Given the description of an element on the screen output the (x, y) to click on. 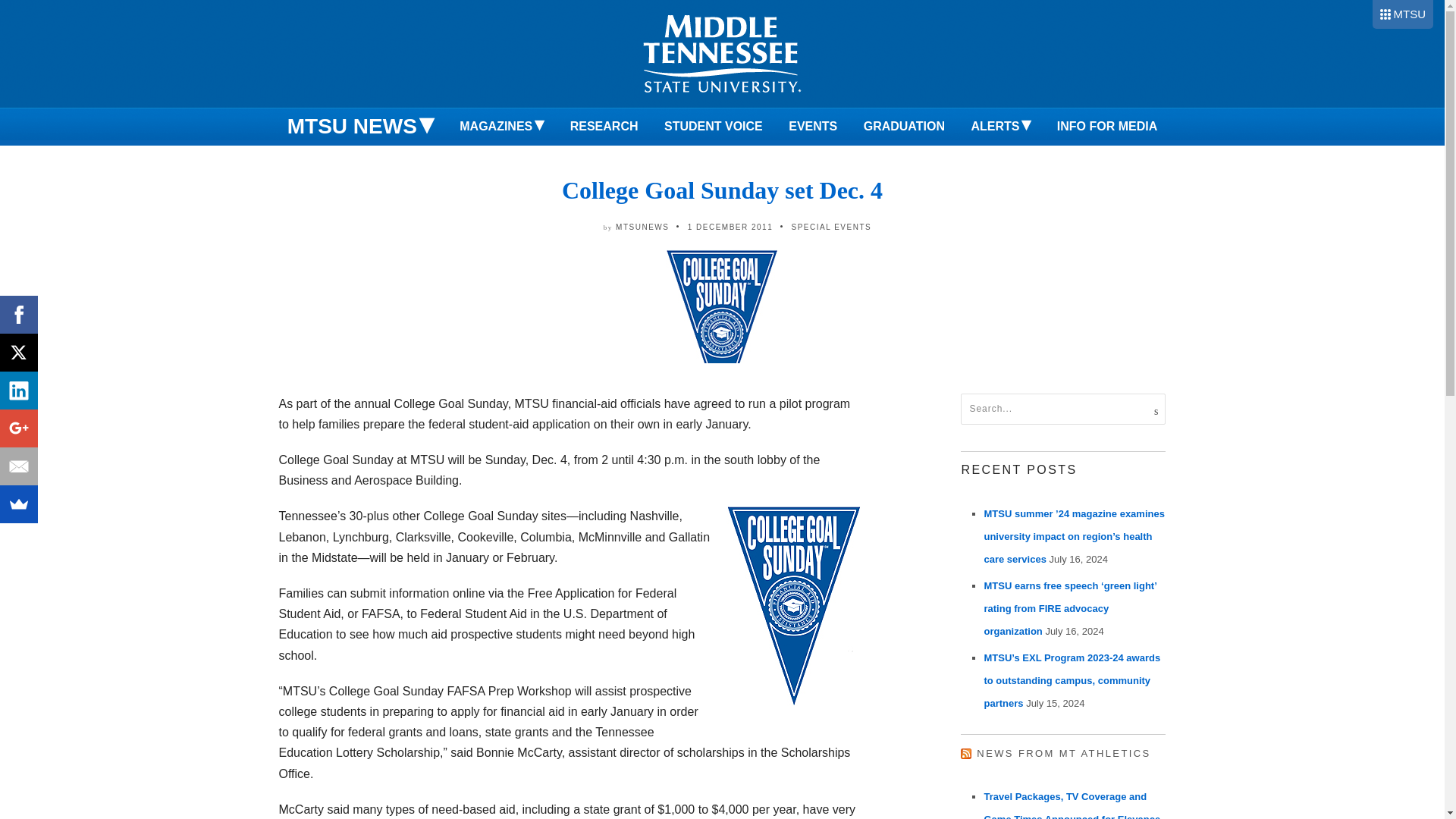
December 1, 2011 12:50 (730, 226)
Posts by mtsunews (641, 226)
